Given the description of an element on the screen output the (x, y) to click on. 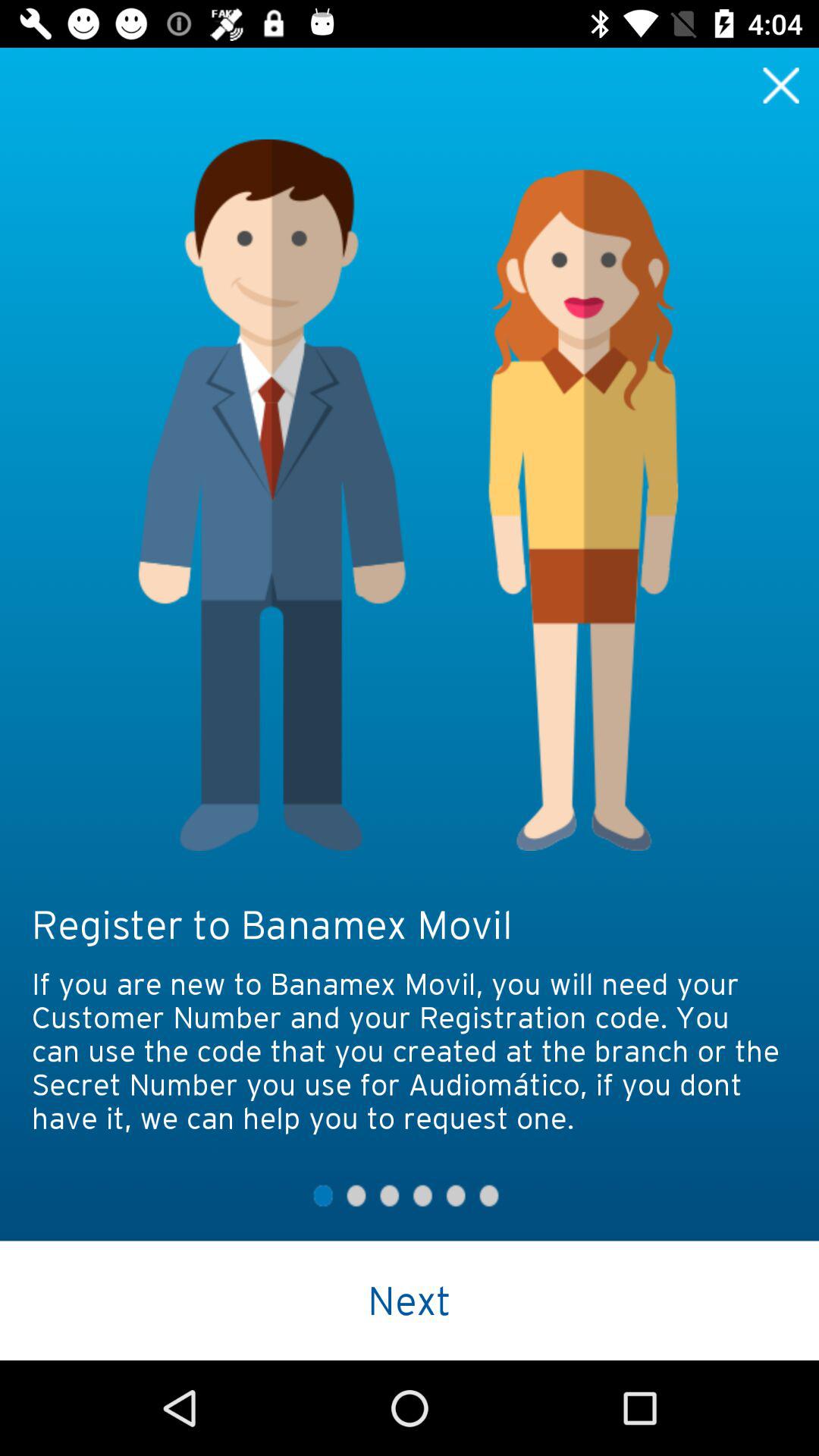
scroll until next button (409, 1300)
